Given the description of an element on the screen output the (x, y) to click on. 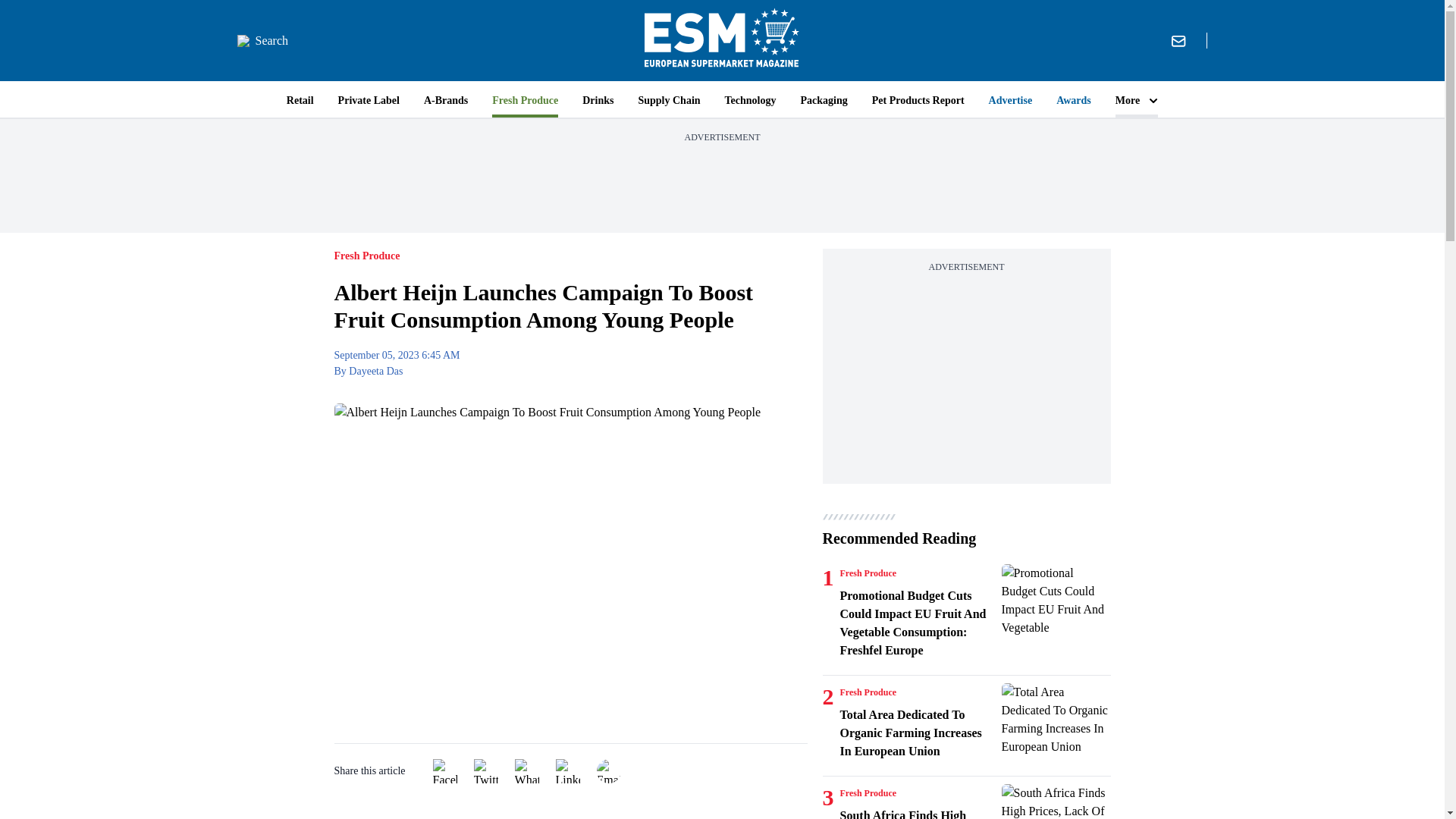
Search (261, 40)
Fresh Produce (868, 573)
Fresh Produce (868, 692)
ESM (722, 40)
Fresh Produce (868, 793)
